Given the description of an element on the screen output the (x, y) to click on. 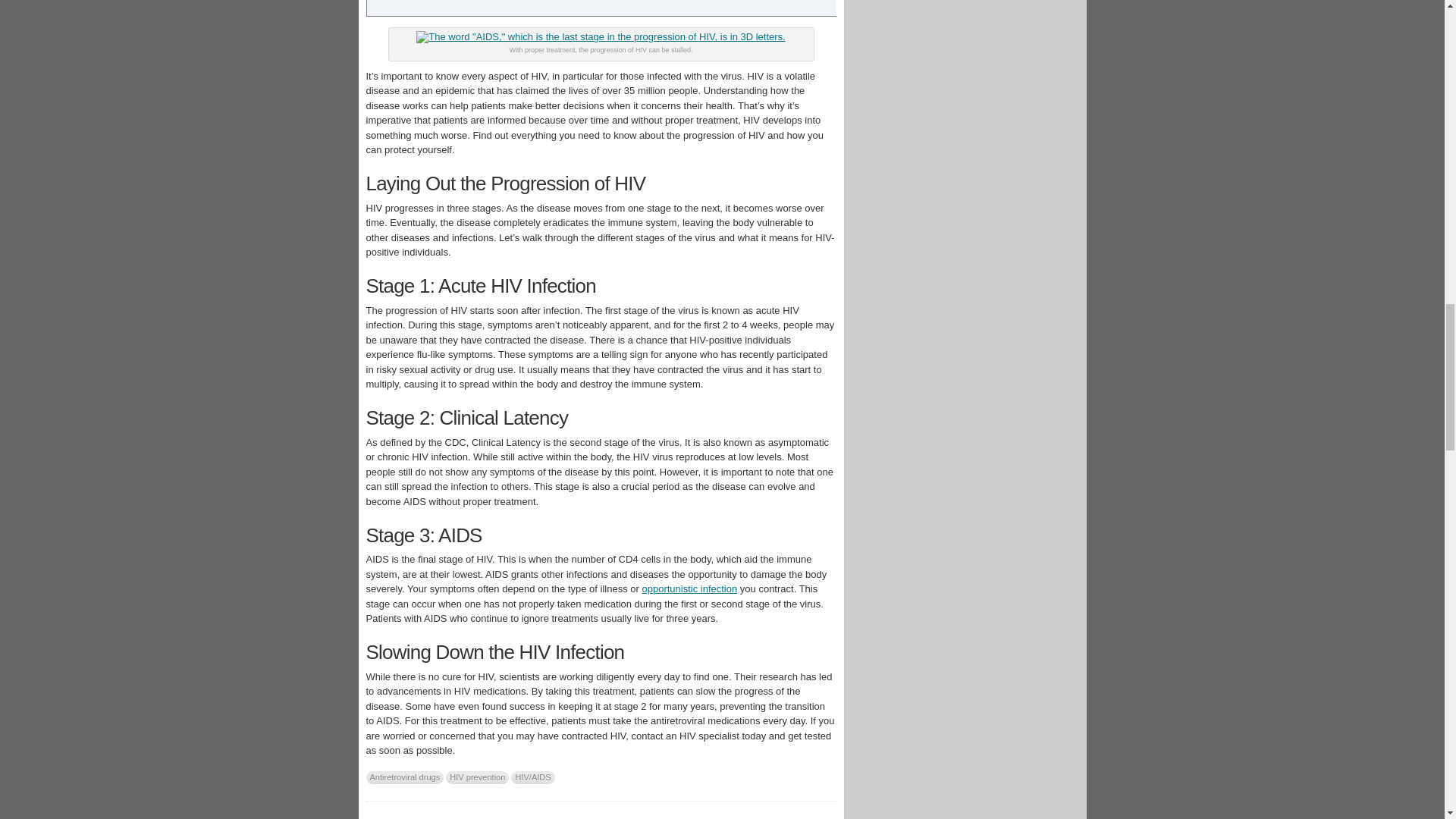
opportunistic infection (689, 588)
HIV prevention (476, 777)
Opportunistic Infections (689, 588)
Antiretroviral drugs (404, 777)
